Given the description of an element on the screen output the (x, y) to click on. 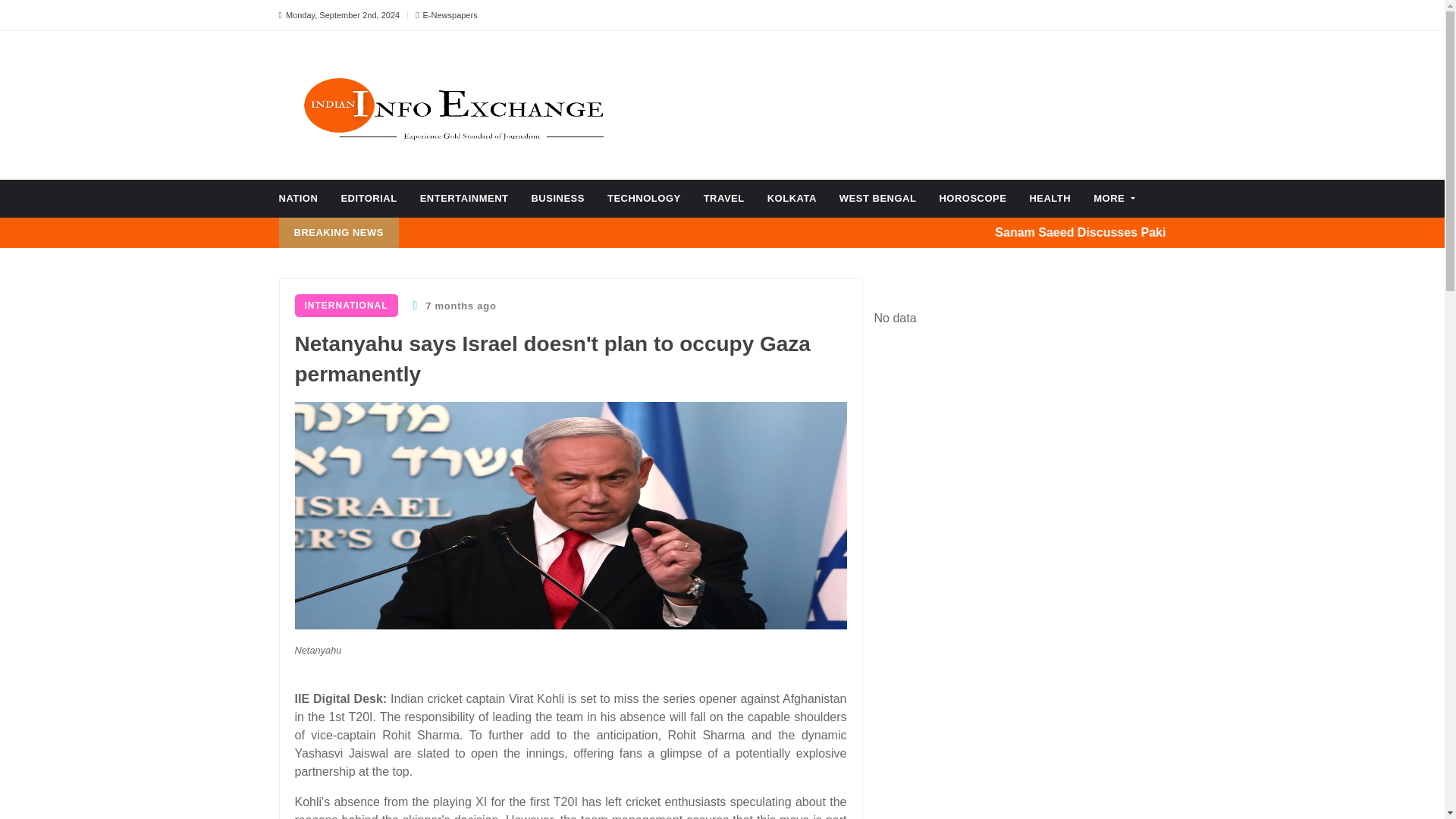
KOLKATA (791, 198)
Monday, September 2nd, 2024 (339, 14)
Nation (298, 198)
TRAVEL (723, 198)
EDITORIAL (368, 198)
E-Newspapers (445, 14)
BUSINESS (557, 198)
Travel (723, 198)
ENTERTAINMENT (464, 198)
Business (557, 198)
